Given the description of an element on the screen output the (x, y) to click on. 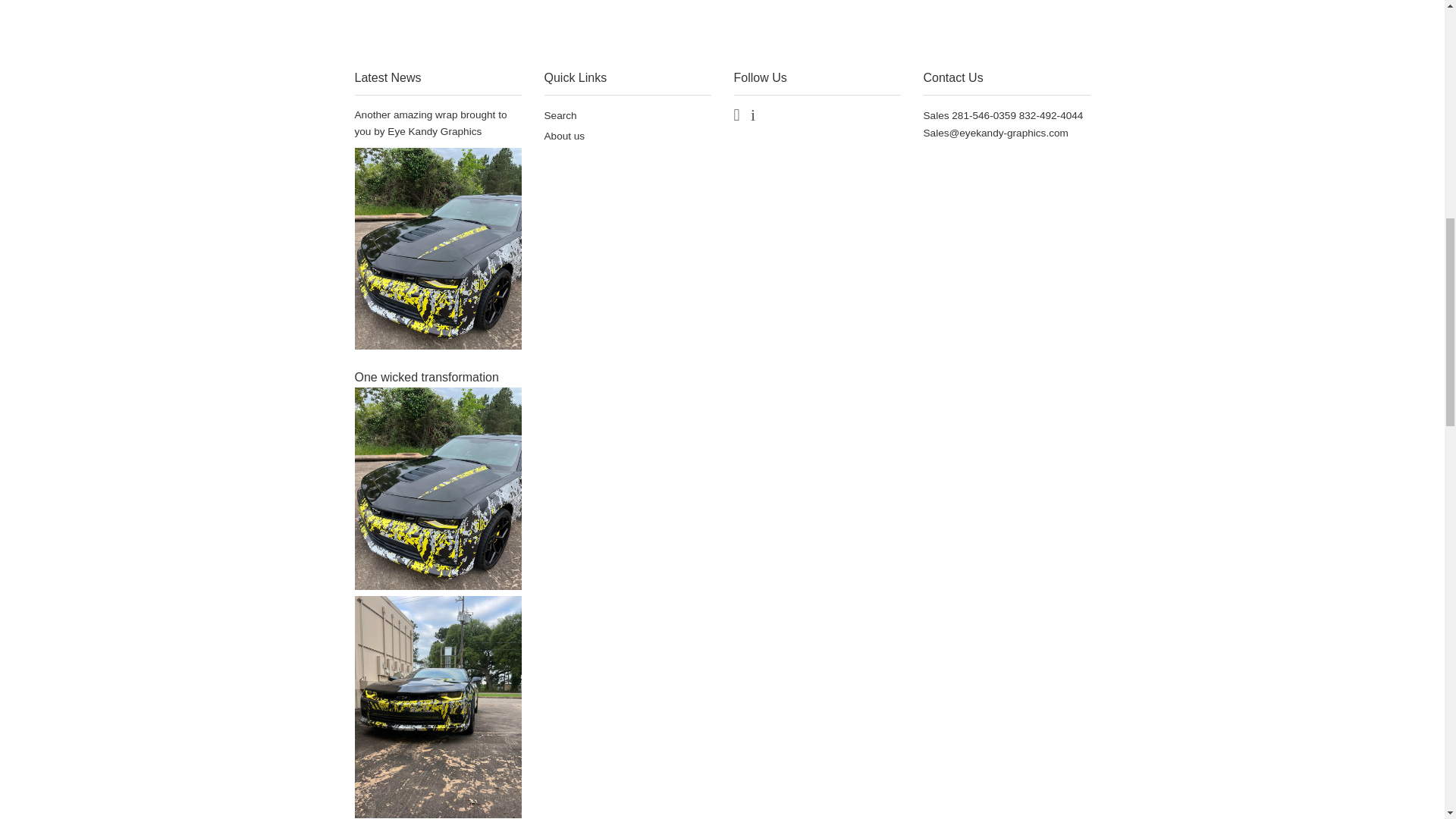
Another amazing wrap brought to you by Eye Kandy Graphics (430, 122)
Latest News (388, 77)
Search (560, 115)
